Given the description of an element on the screen output the (x, y) to click on. 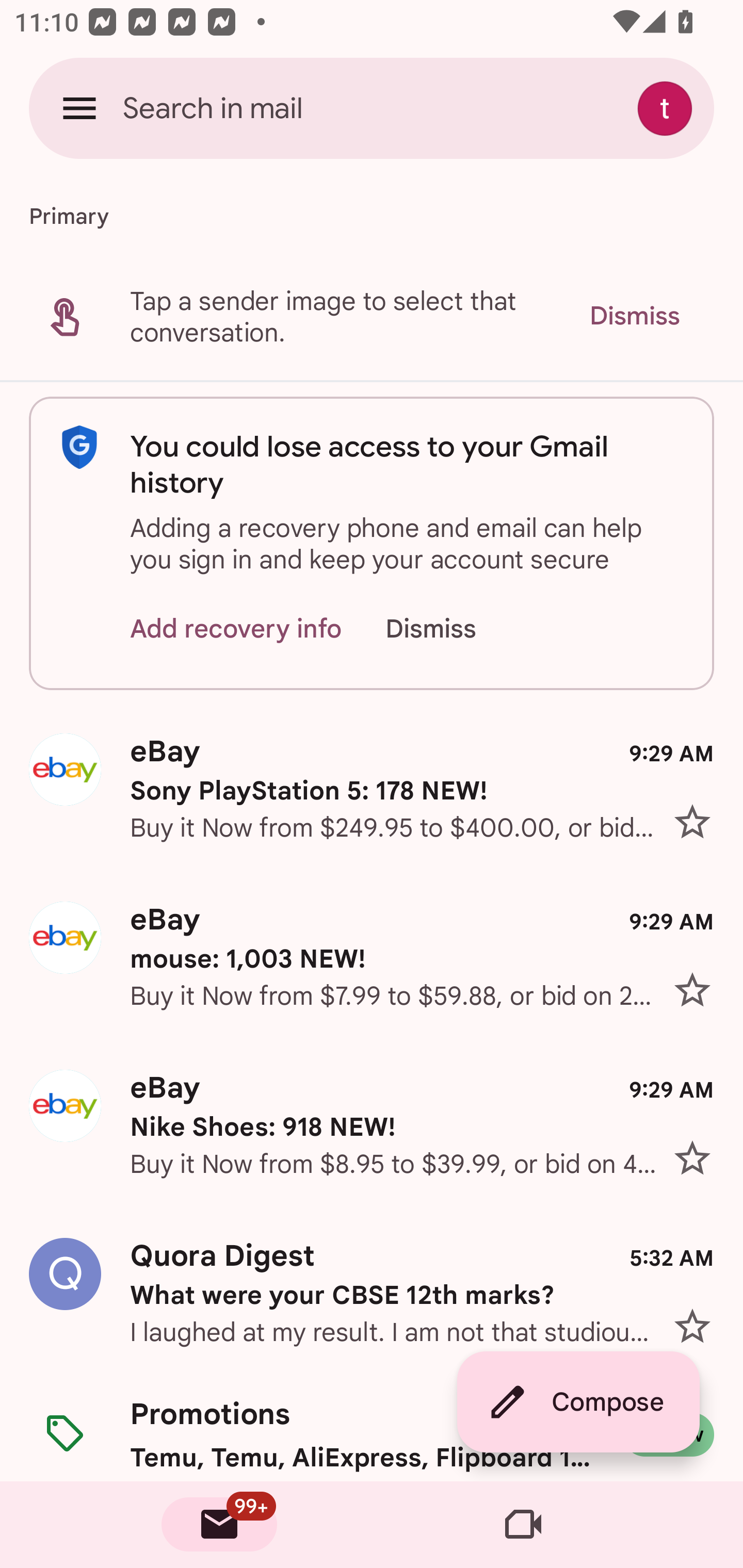
Open navigation drawer (79, 108)
Dismiss Dismiss tip (634, 315)
Add recovery info (235, 628)
Dismiss (449, 628)
Compose (577, 1401)
Meet (523, 1524)
